Given the description of an element on the screen output the (x, y) to click on. 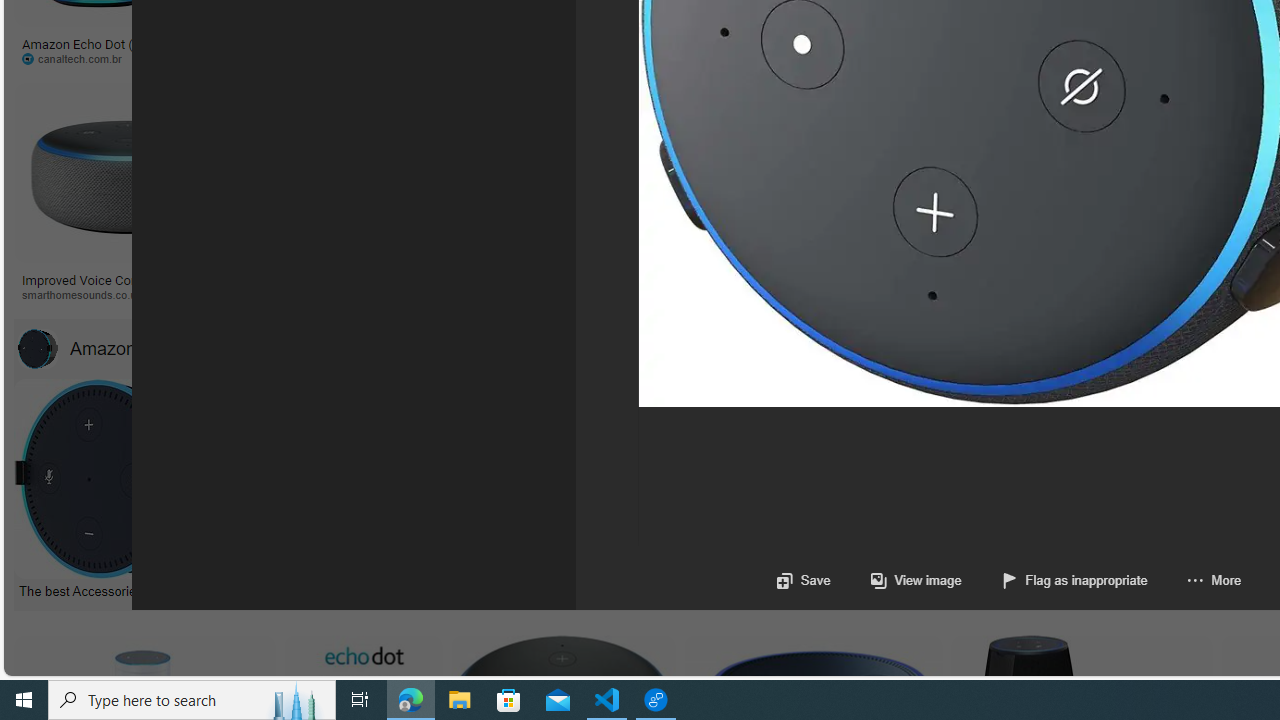
buynow.com.ec (1117, 58)
mediamarkt.es (1124, 294)
Amazon Echo Dot With Clock Review | Security.org (404, 279)
canaltech.com.br (97, 58)
croma.com (885, 58)
mediamarkt.de (945, 295)
